Given the description of an element on the screen output the (x, y) to click on. 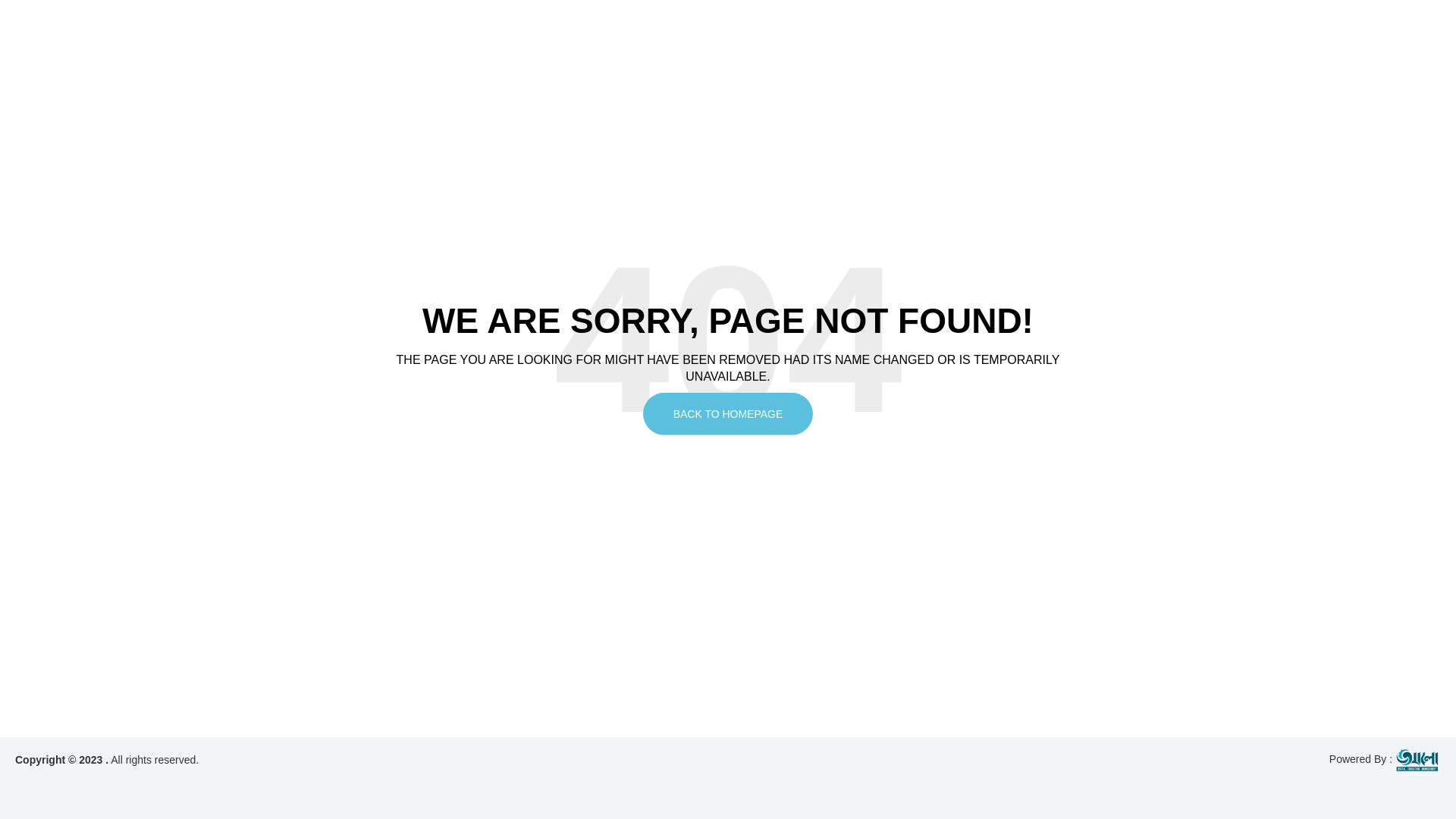
BACK TO HOMEPAGE Element type: text (728, 413)
